Given the description of an element on the screen output the (x, y) to click on. 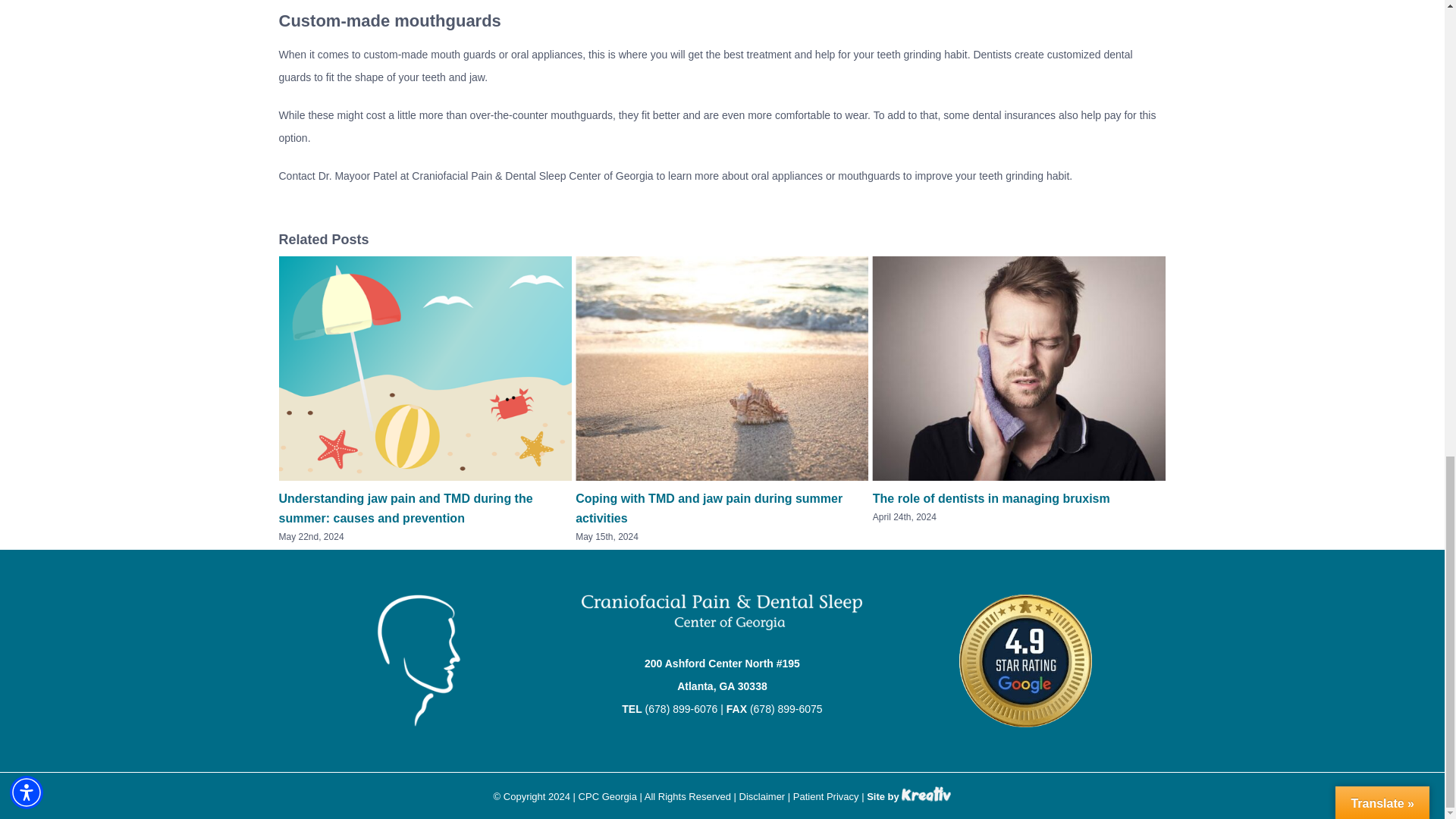
Coping with TMD and jaw pain during summer activities (709, 508)
The role of dentists in managing bruxism (990, 498)
